Given the description of an element on the screen output the (x, y) to click on. 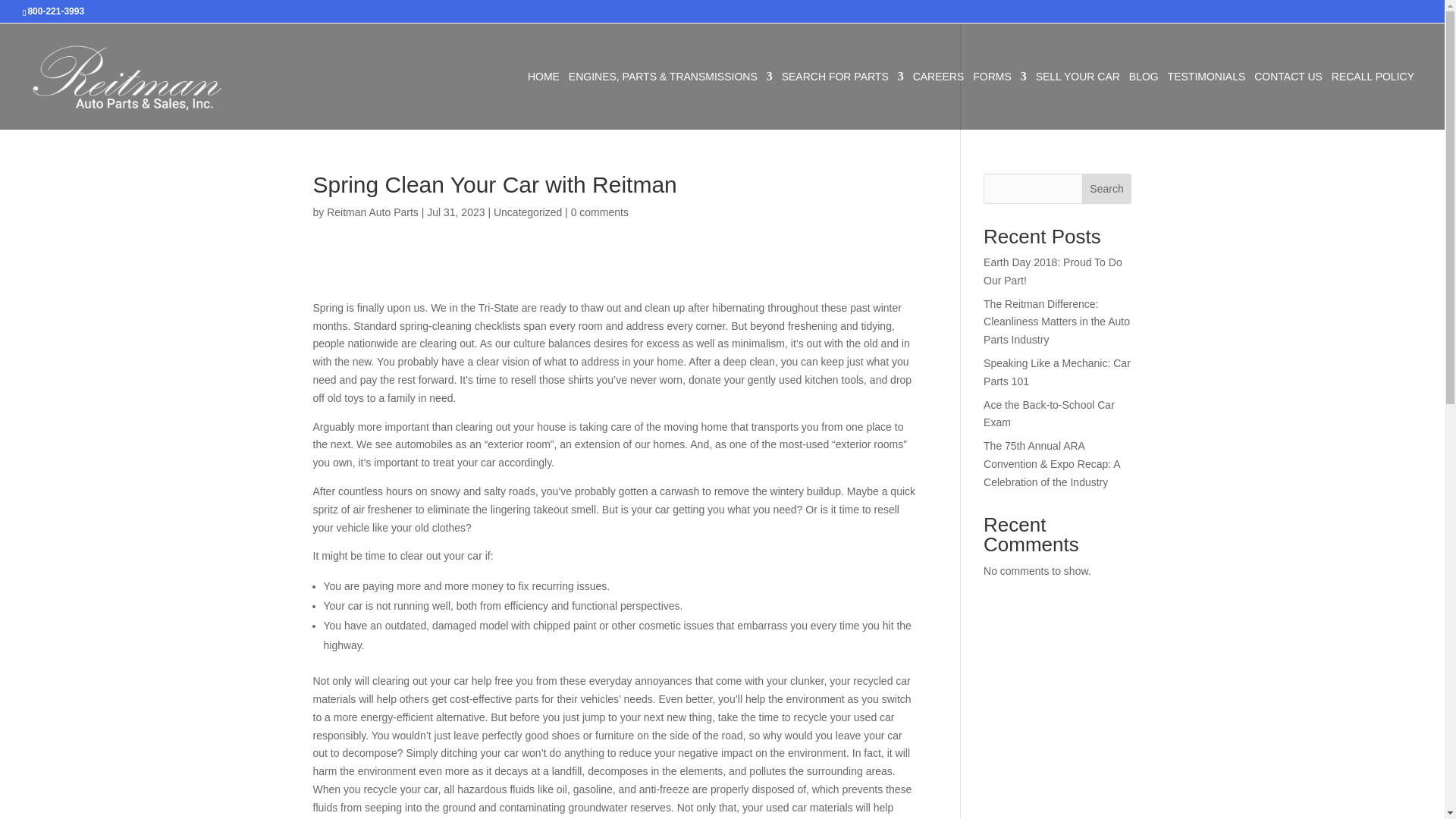
Posts by Reitman Auto Parts (372, 212)
RECALL POLICY (1372, 100)
SELL YOUR CAR (1077, 100)
SEARCH FOR PARTS (842, 100)
TESTIMONIALS (1206, 100)
FORMS (999, 100)
CONTACT US (1287, 100)
